Given the description of an element on the screen output the (x, y) to click on. 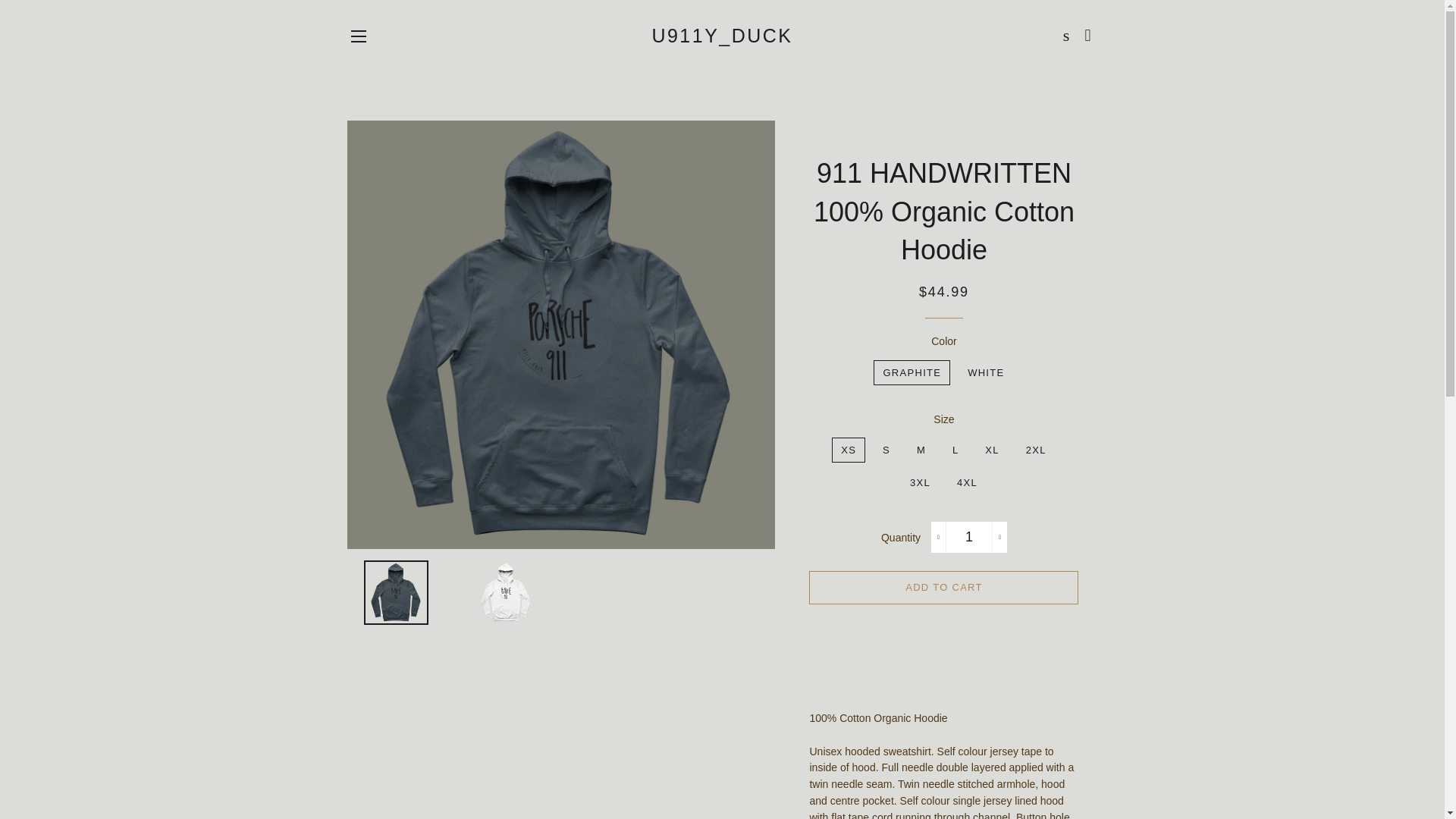
1 (969, 536)
SITE NAVIGATION (358, 36)
